Given the description of an element on the screen output the (x, y) to click on. 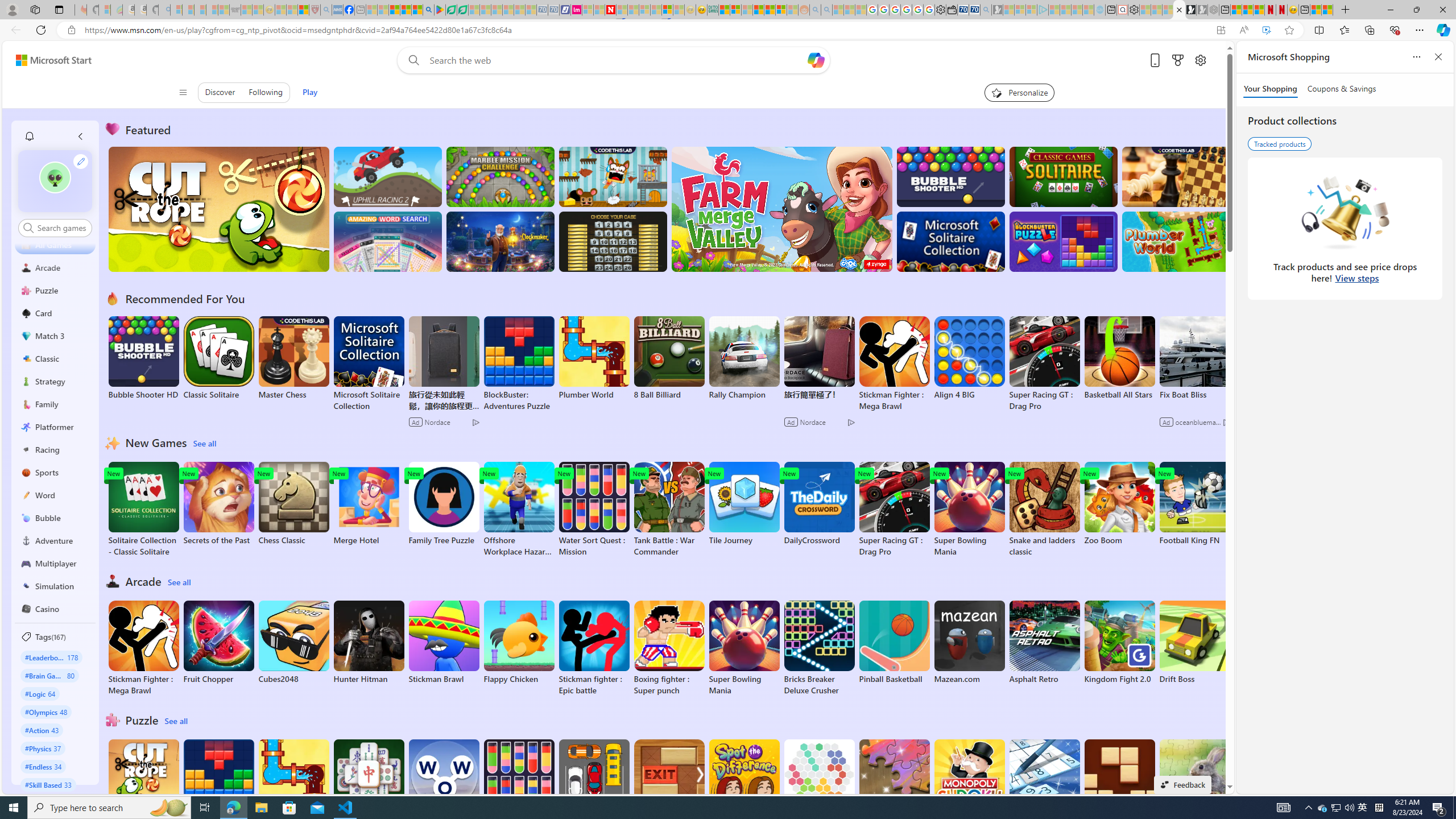
Up Hill Racing 2 (387, 176)
Farm Merge Valley (781, 208)
#Leaderboard 178 (51, 657)
Zoo Boom (1119, 503)
#Skill Based 33 (47, 784)
Class: profile-edit (80, 160)
Bubble Shooter HD (143, 358)
